Given the description of an element on the screen output the (x, y) to click on. 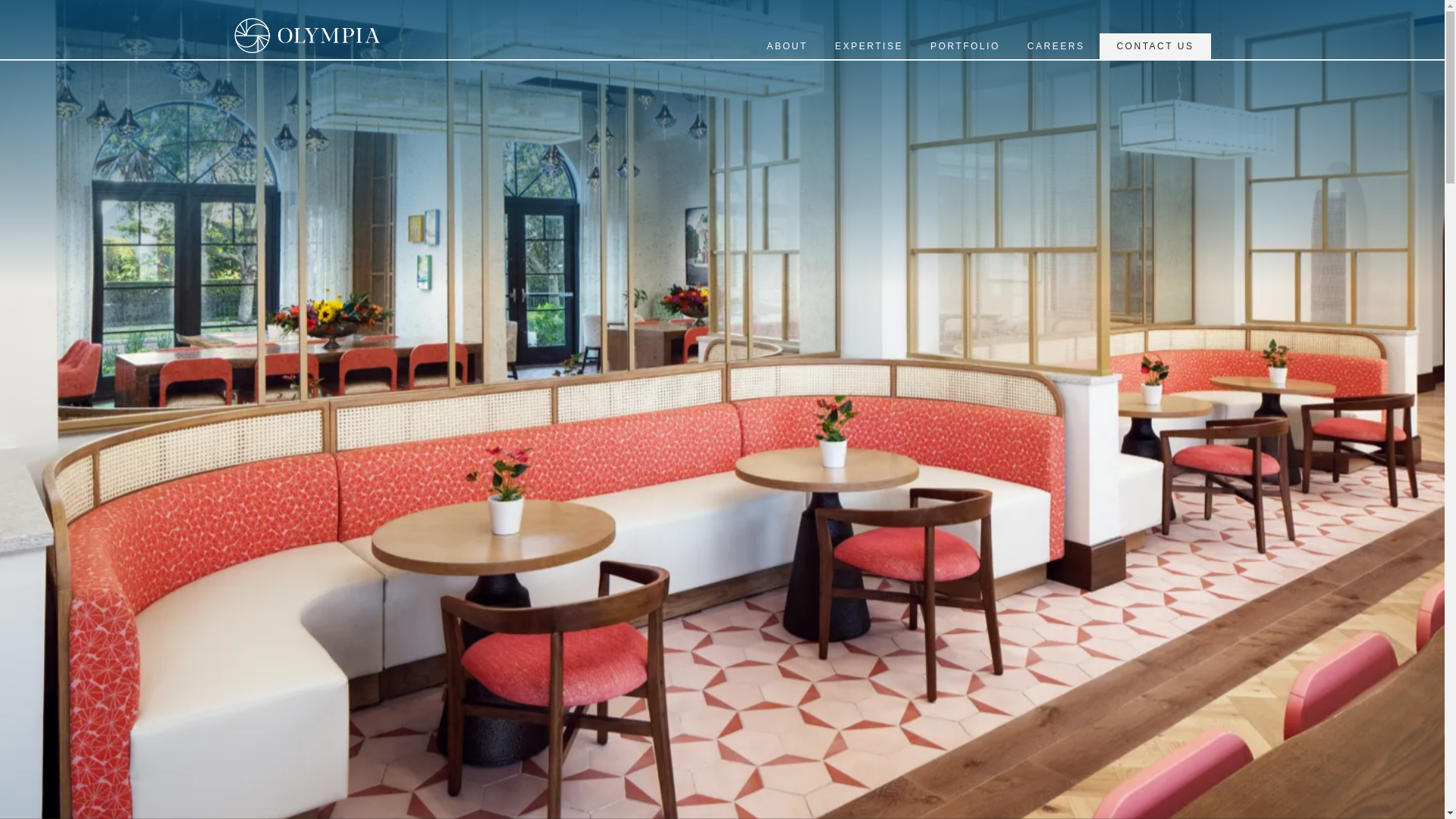
CONTACT US (1154, 45)
CAREERS (1055, 46)
ABOUT (786, 46)
EXPERTISE (868, 46)
PORTFOLIO (964, 46)
